Given the description of an element on the screen output the (x, y) to click on. 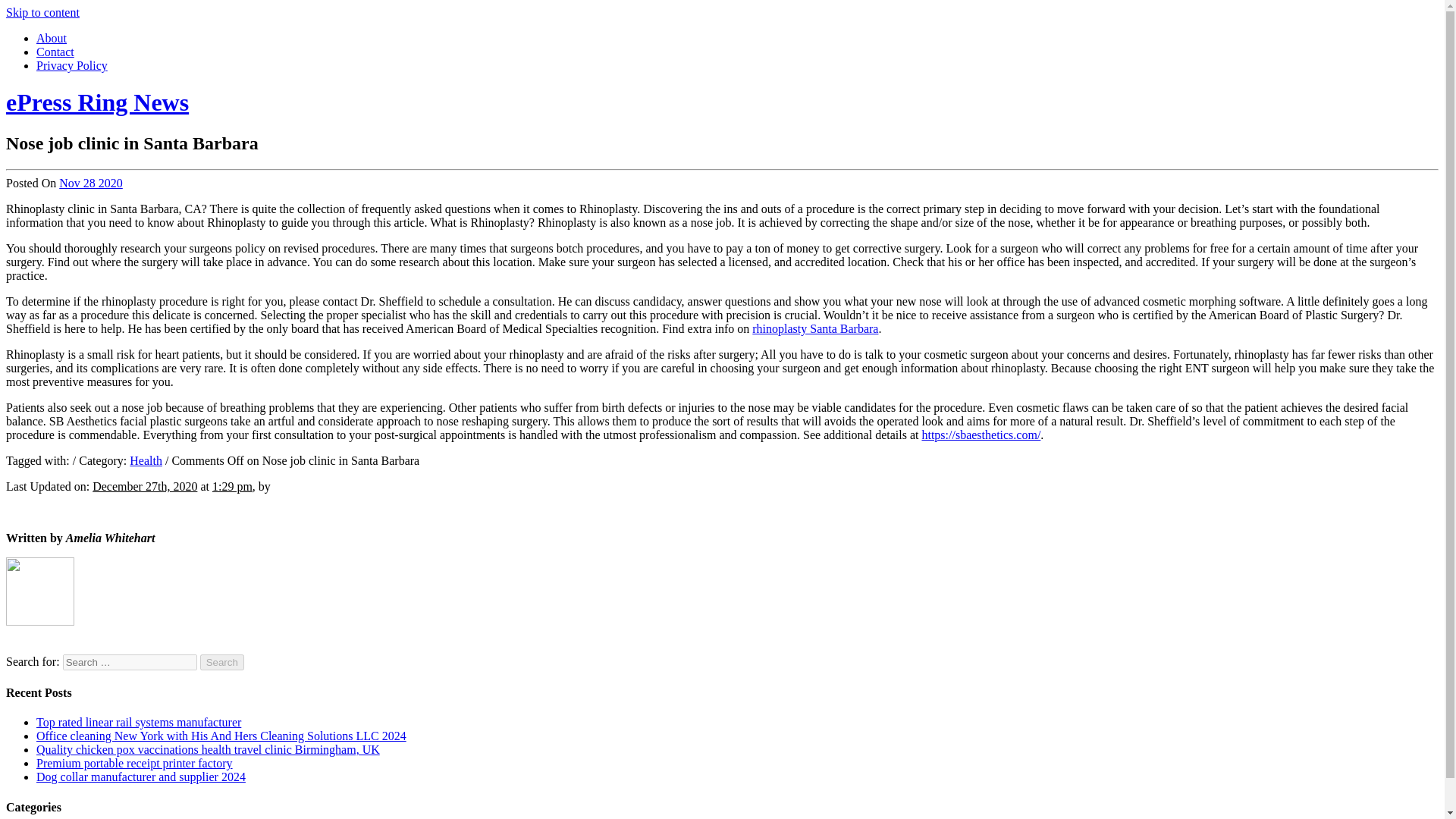
Search (222, 662)
Health (145, 460)
Contact (55, 51)
About (51, 38)
ePress Ring News (97, 102)
Nov 28 2020 (90, 182)
Privacy Policy (71, 65)
Search (222, 662)
rhinoplasty Santa Barbara (814, 328)
Skip to content (42, 11)
ePress Ring News (97, 102)
Search (222, 662)
Dog collar manufacturer and supplier 2024 (141, 776)
Premium portable receipt printer factory (134, 762)
